Given the description of an element on the screen output the (x, y) to click on. 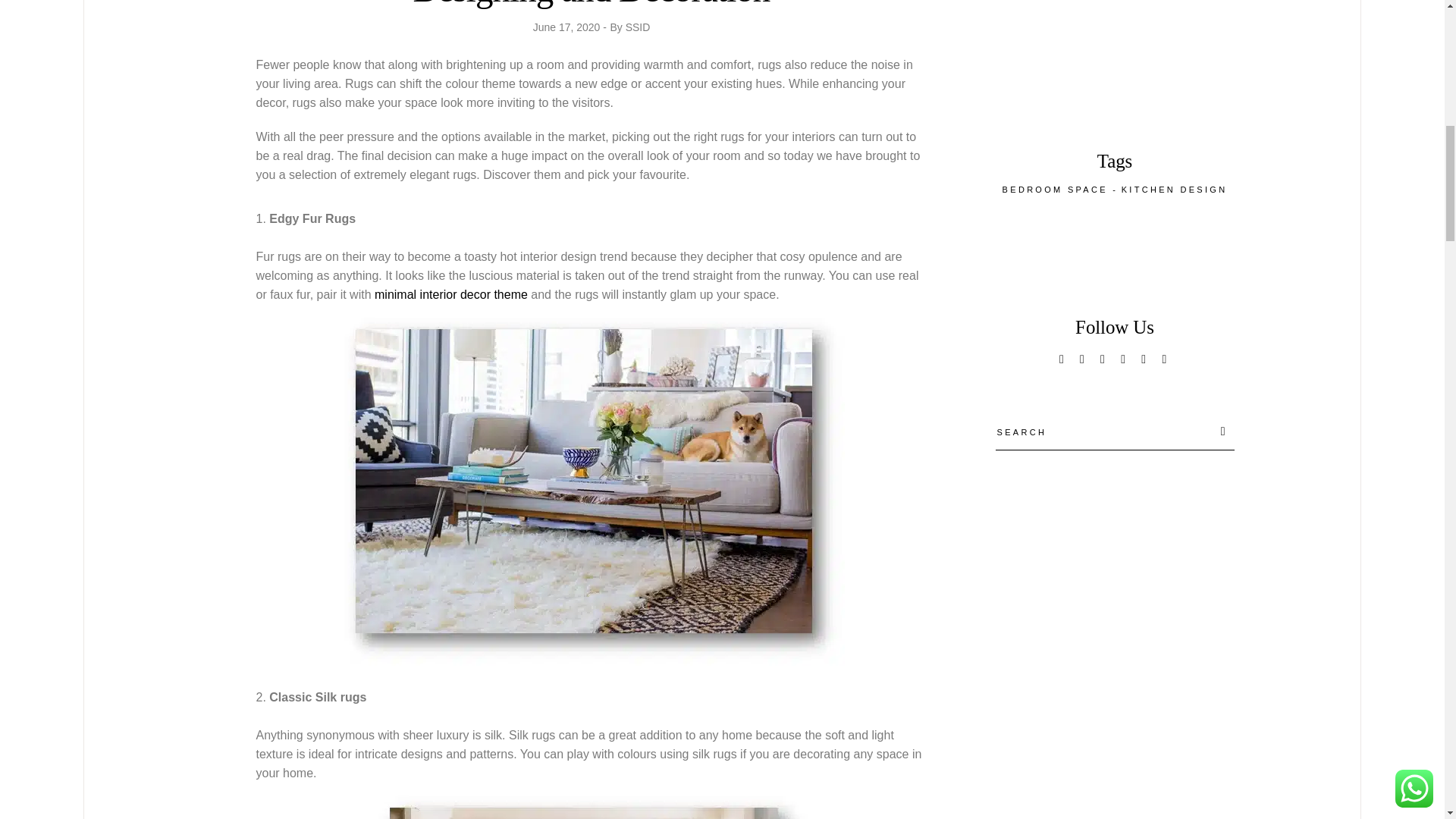
Search for: (1104, 431)
